Given the description of an element on the screen output the (x, y) to click on. 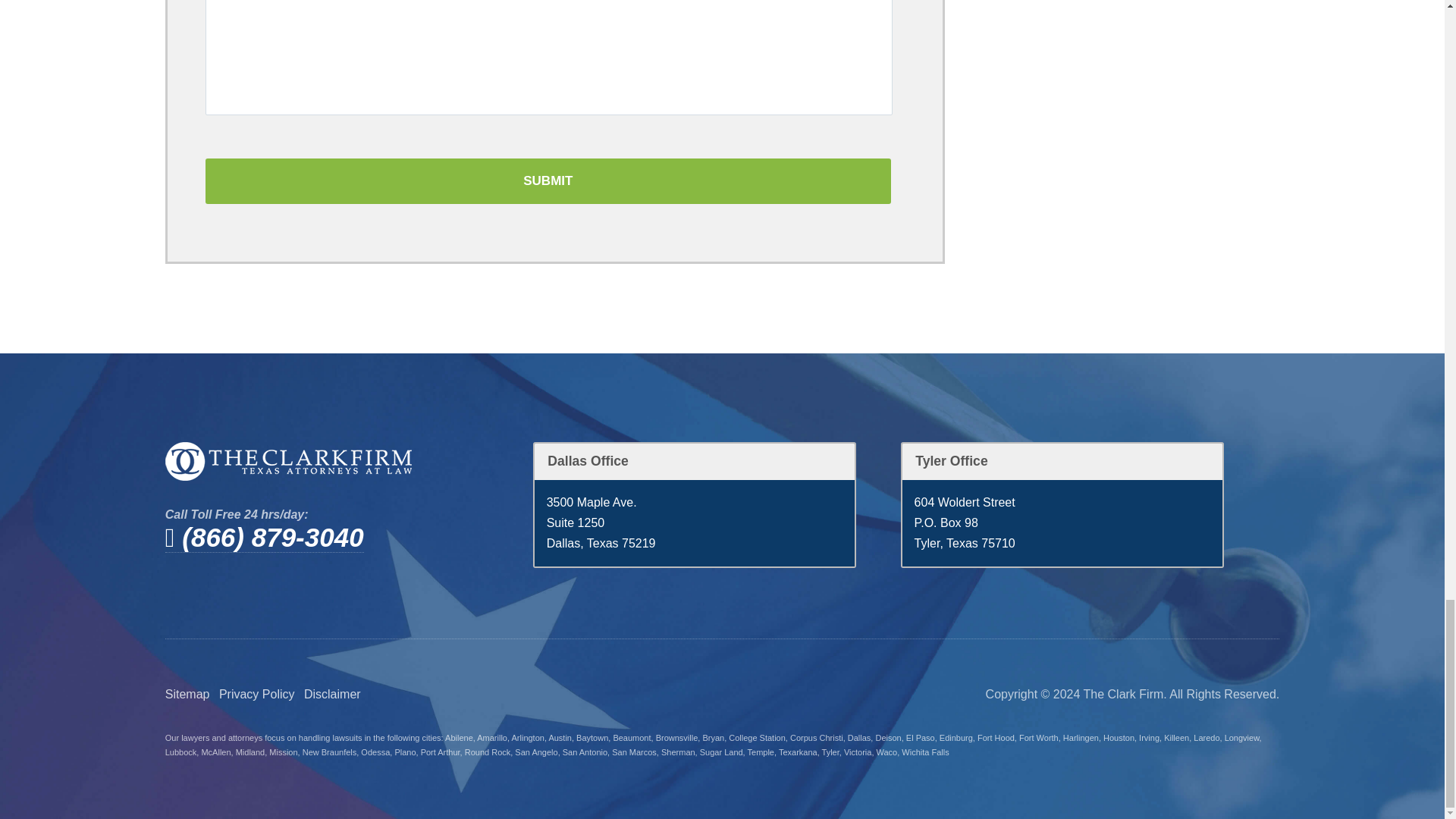
Submit (548, 180)
